Given the description of an element on the screen output the (x, y) to click on. 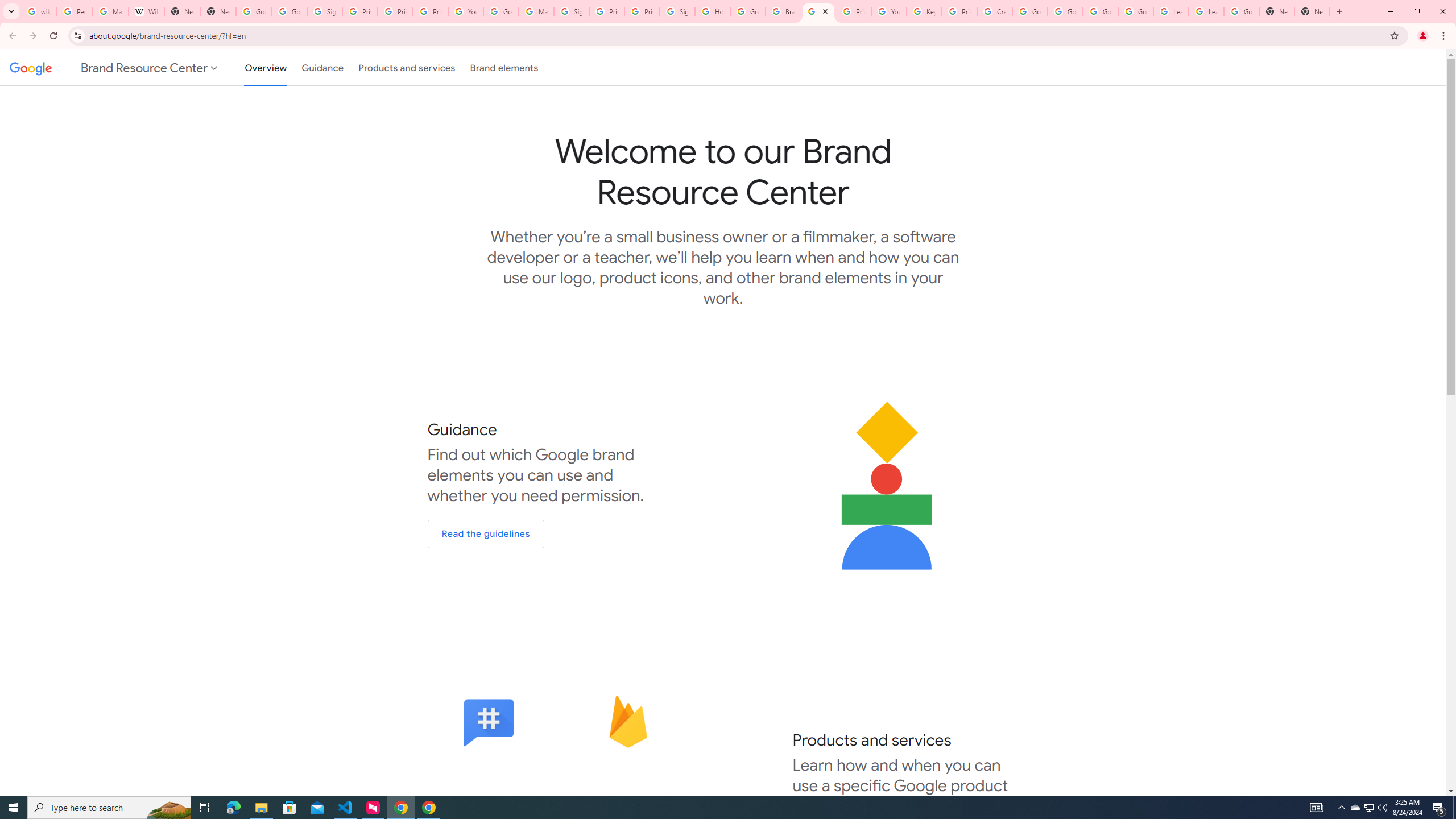
Google Account Help (501, 11)
New Tab (218, 11)
Google Account Help (1064, 11)
Sign in - Google Accounts (571, 11)
New Tab (1276, 11)
Google site switcher (114, 67)
Personalization & Google Search results - Google Search Help (74, 11)
Sign in - Google Accounts (677, 11)
Products and services (406, 67)
Google Account Help (1029, 11)
Google (28, 67)
Forward (32, 35)
Chrome (1445, 35)
